Given the description of an element on the screen output the (x, y) to click on. 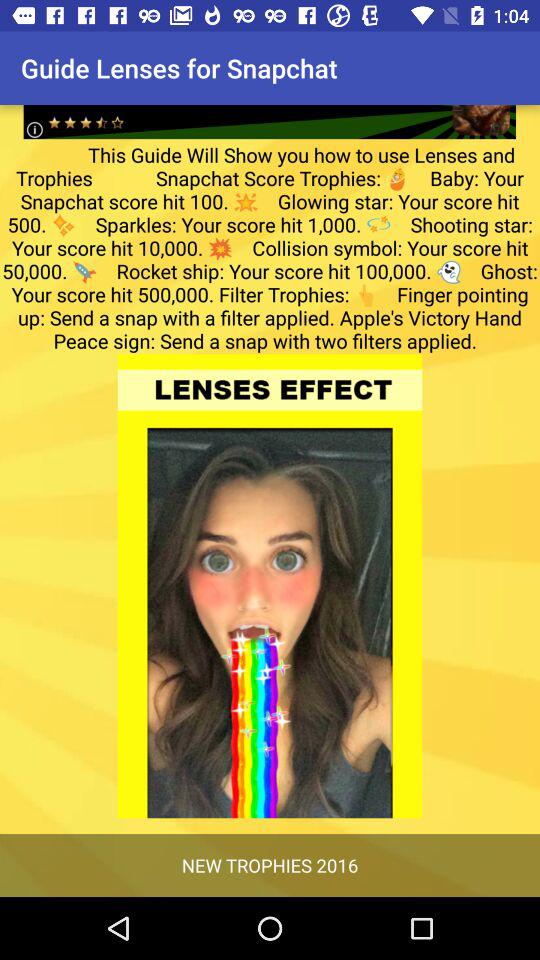
open item above the this guide will (269, 106)
